Given the description of an element on the screen output the (x, y) to click on. 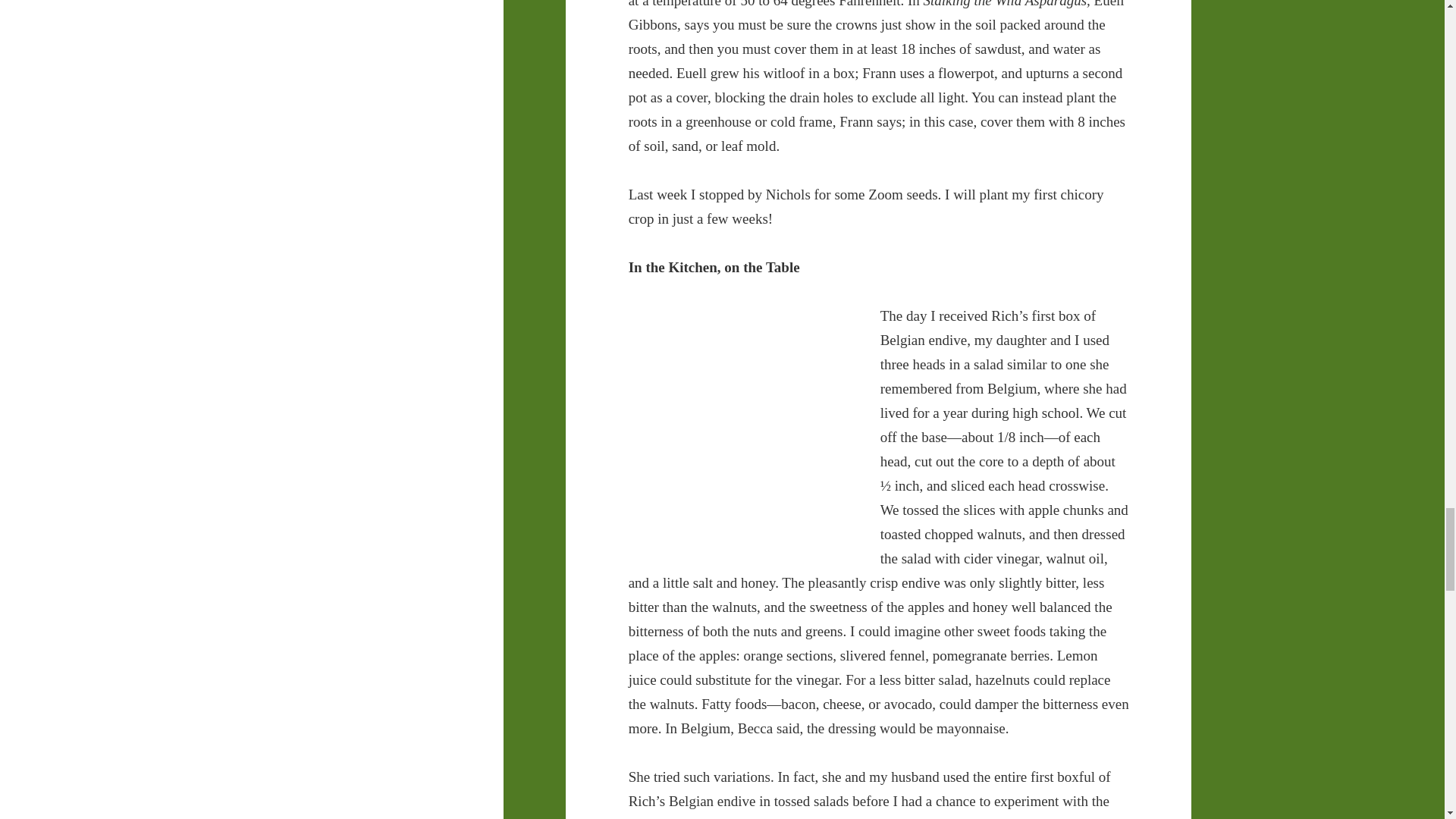
tossed endive salad (742, 423)
